Given the description of an element on the screen output the (x, y) to click on. 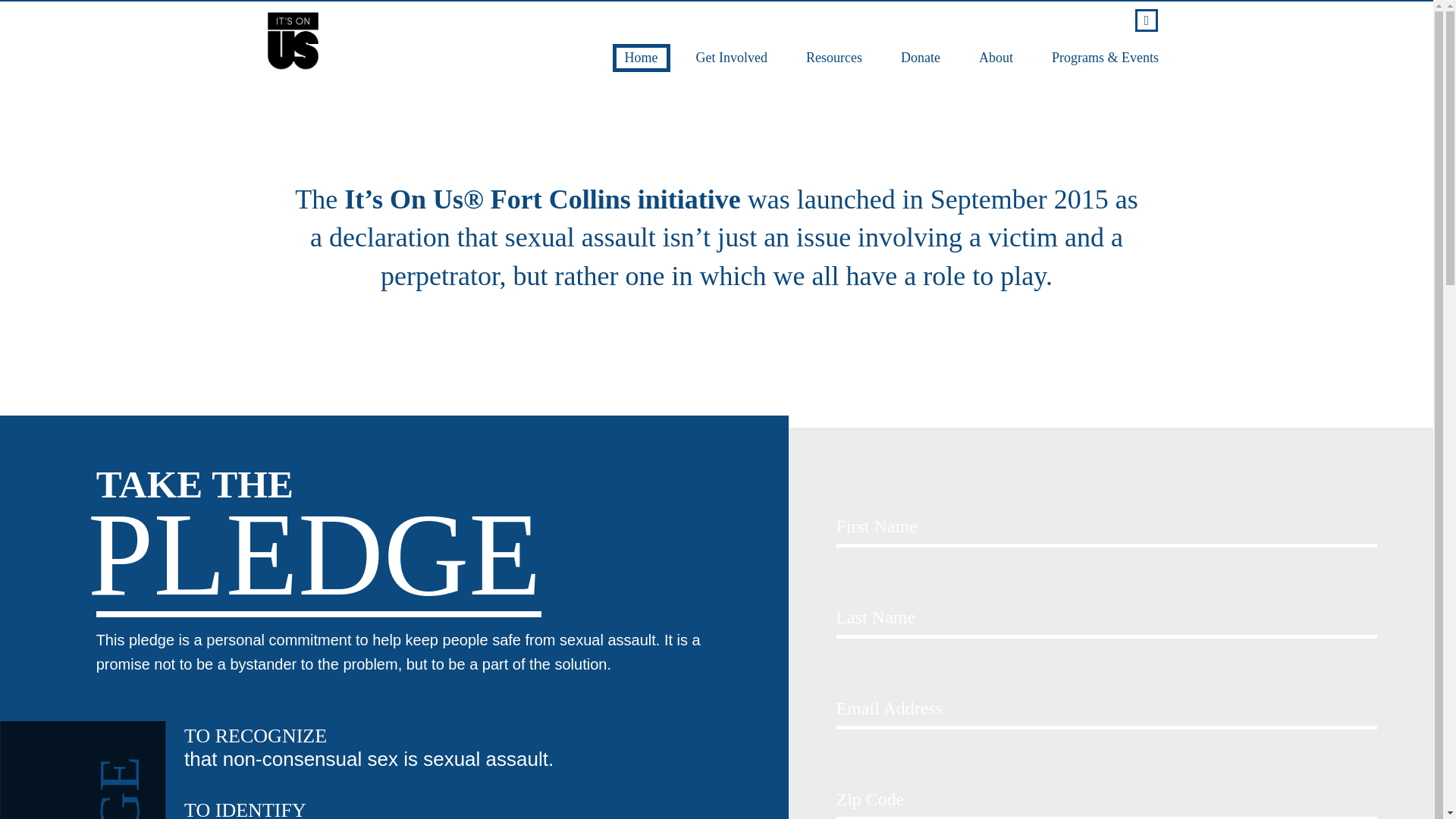
Share Your Story (731, 126)
Resources (834, 58)
Home (640, 58)
Community Partners (996, 126)
Take the Pledge (731, 99)
Donate (920, 58)
Get Involved (731, 58)
Raise The Bar (1105, 99)
Videos (834, 126)
About (996, 58)
